Given the description of an element on the screen output the (x, y) to click on. 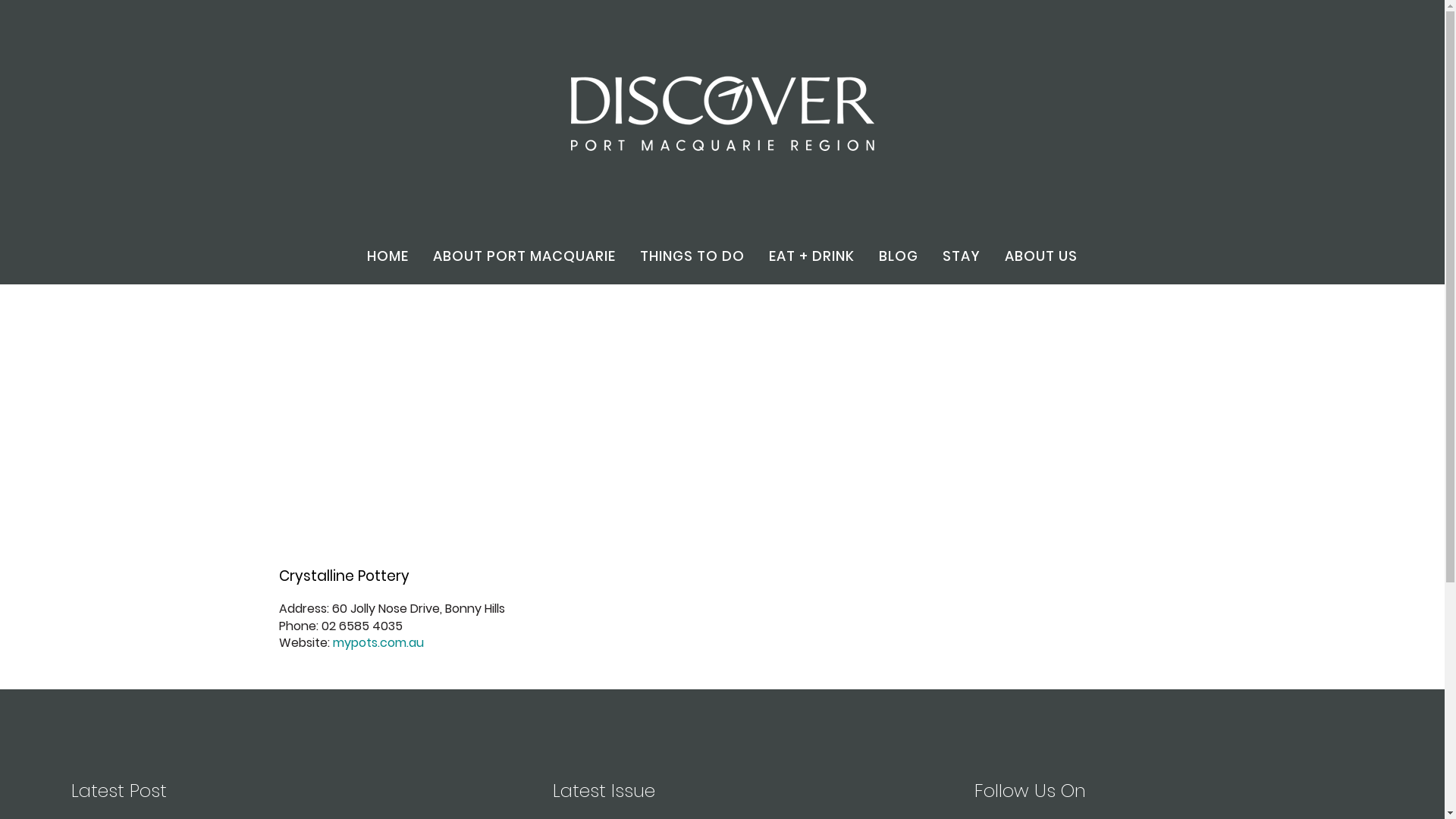
THINGS TO DO Element type: text (692, 255)
Discover Element type: hover (721, 112)
HOME Element type: text (387, 255)
ABOUT US Element type: text (1041, 255)
STAY Element type: text (961, 255)
mypots.com.au Element type: text (377, 642)
BLOG Element type: text (898, 255)
ABOUT PORT MACQUARIE Element type: text (524, 255)
EAT + DRINK Element type: text (811, 255)
